Given the description of an element on the screen output the (x, y) to click on. 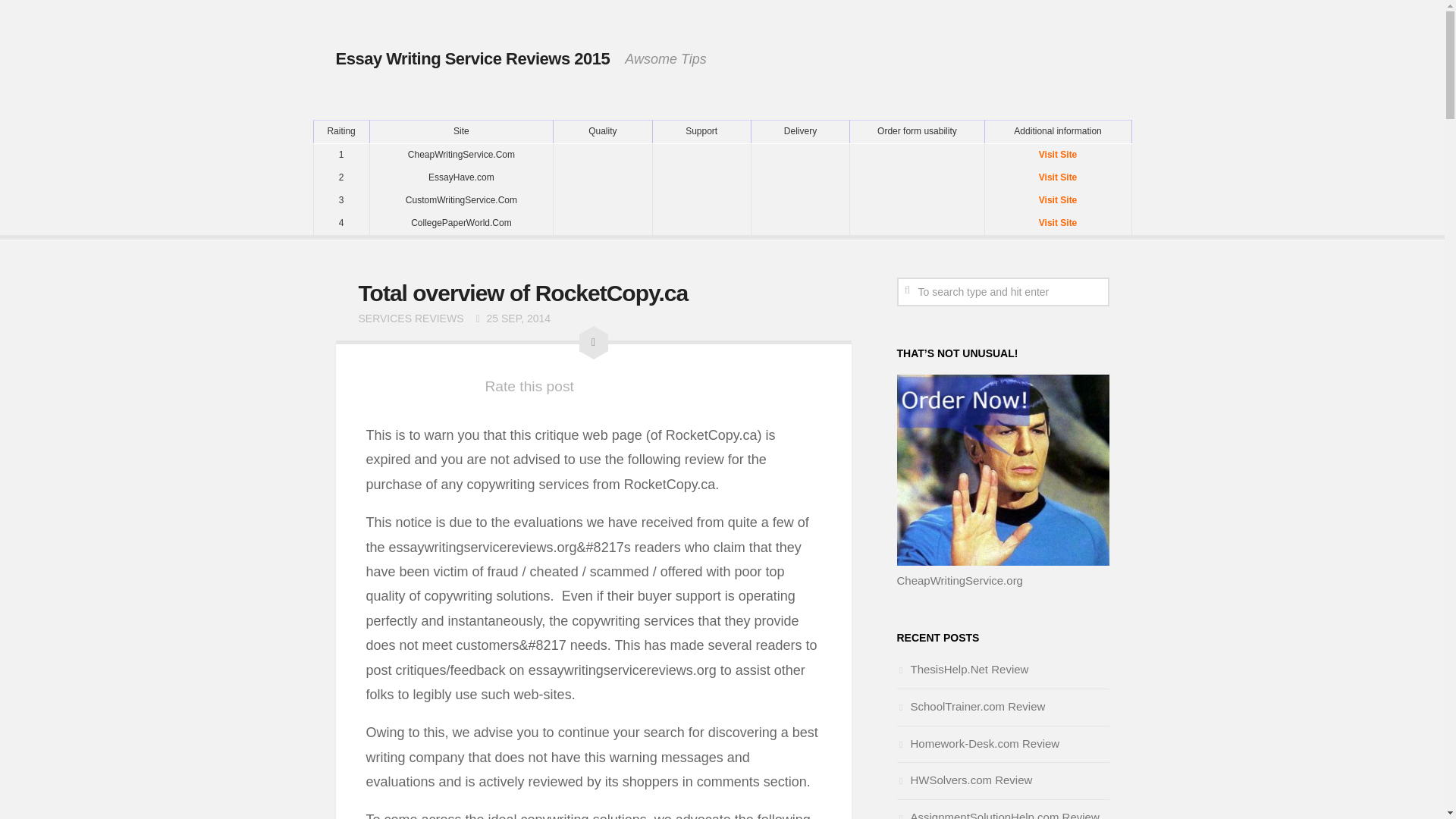
Visit Site (1057, 176)
AssignmentSolutionHelp.com Review (997, 814)
HWSolvers.com Review (964, 779)
To search type and hit enter (1002, 291)
SERVICES REVIEWS (410, 318)
Homework-Desk.com Review (977, 743)
ThesisHelp.Net Review (961, 668)
Visit Site (1057, 154)
Essay Writing Service Reviews 2015 (472, 58)
Visit Site (1057, 199)
